Given the description of an element on the screen output the (x, y) to click on. 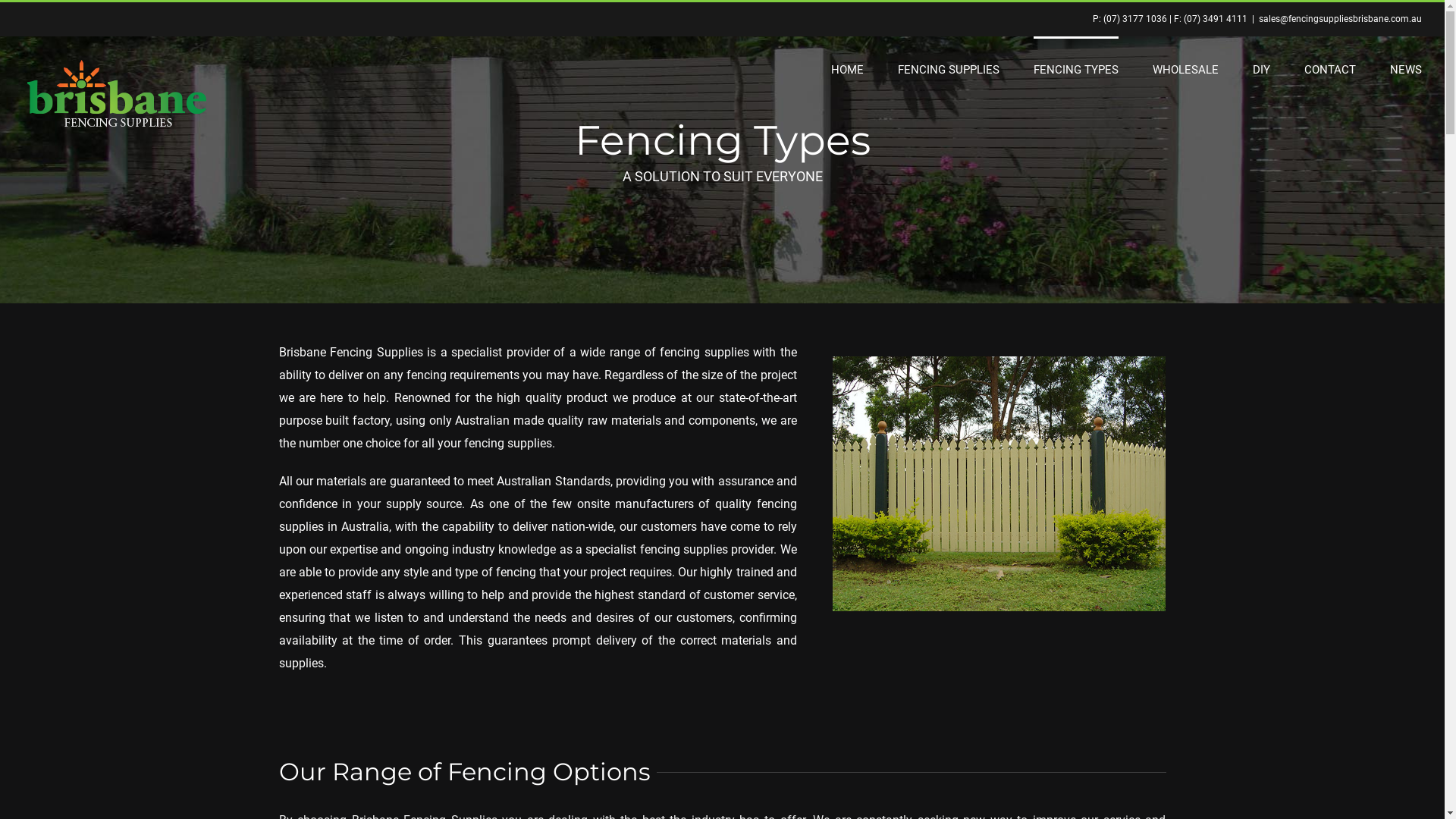
NEWS Element type: text (1405, 68)
WHOLESALE Element type: text (1185, 68)
FENCING SUPPLIES Element type: text (948, 68)
sales@fencingsuppliesbrisbane.com.au Element type: text (1339, 18)
DIY Element type: text (1261, 68)
FENCING TYPES Element type: text (1075, 68)
HOME Element type: text (847, 68)
CONTACT Element type: text (1329, 68)
